Given the description of an element on the screen output the (x, y) to click on. 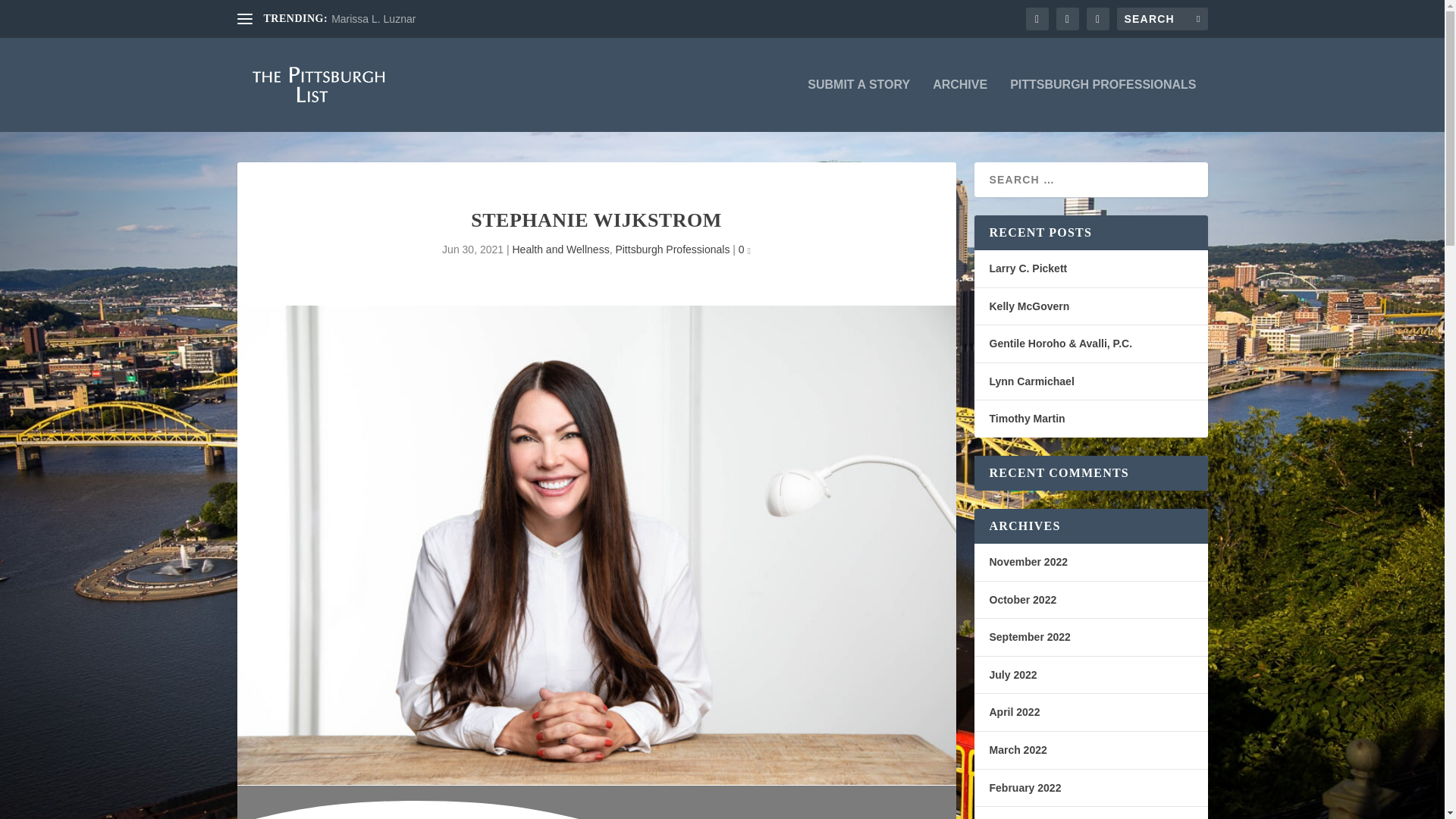
PITTSBURGH PROFESSIONALS (1102, 104)
0 (744, 249)
Health and Wellness (560, 249)
Search for: (1161, 18)
SUBMIT A STORY (859, 104)
ARCHIVE (960, 104)
Marissa L. Luznar (372, 19)
Pittsburgh Professionals (671, 249)
